Given the description of an element on the screen output the (x, y) to click on. 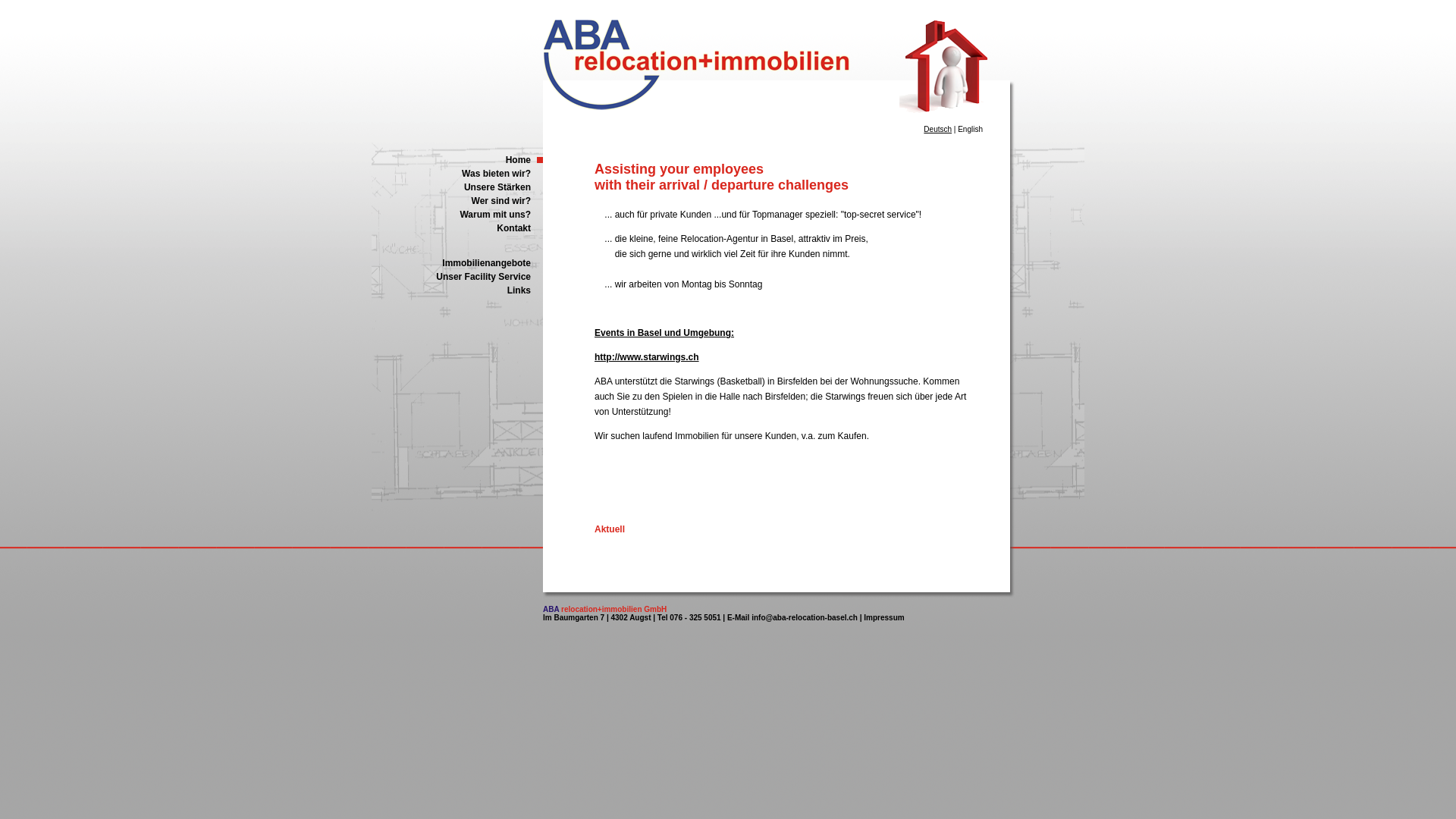
Impressum Element type: text (883, 617)
Links Element type: text (456, 290)
Immobilienangebote Element type: text (456, 262)
English Element type: text (969, 129)
Deutsch Element type: text (937, 129)
Was bieten wir? Element type: text (456, 173)
Home Element type: text (456, 159)
Wer sind wir? Element type: text (456, 200)
info@aba-relocation-basel.ch Element type: text (804, 617)
Unser Facility Service Element type: text (456, 276)
Kontakt Element type: text (456, 228)
Warum mit uns? Element type: text (456, 214)
